Given the description of an element on the screen output the (x, y) to click on. 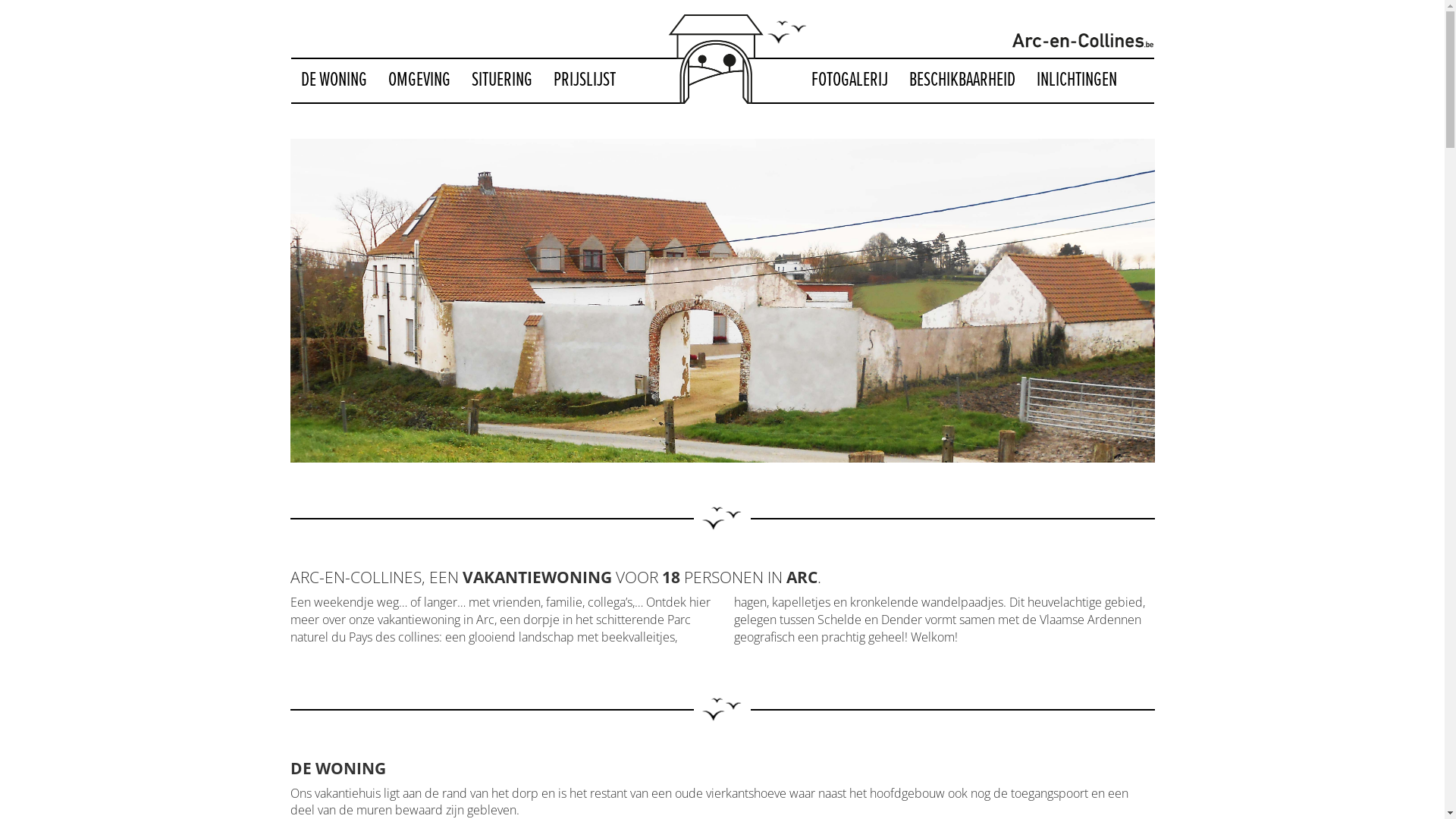
FOTOGALERIJ Element type: text (848, 80)
OMGEVING Element type: text (418, 80)
PRIJSLIJST Element type: text (583, 80)
BESCHIKBAARHEID Element type: text (962, 80)
SITUERING Element type: text (501, 80)
INLICHTINGEN Element type: text (1076, 80)
DE WONING Element type: text (333, 80)
